Given the description of an element on the screen output the (x, y) to click on. 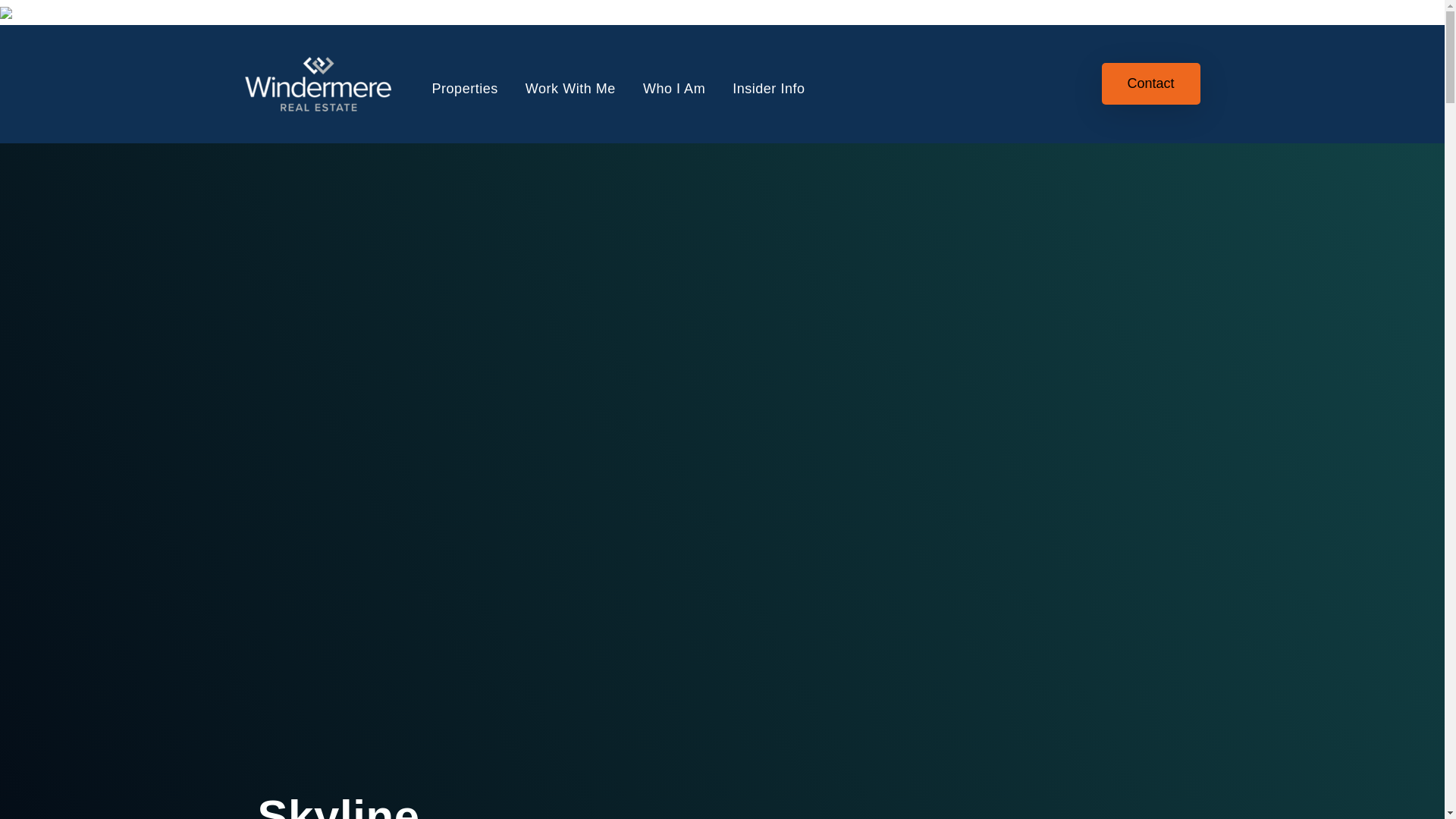
Work With Me (570, 88)
Who I Am (673, 88)
Properties (465, 88)
